Given the description of an element on the screen output the (x, y) to click on. 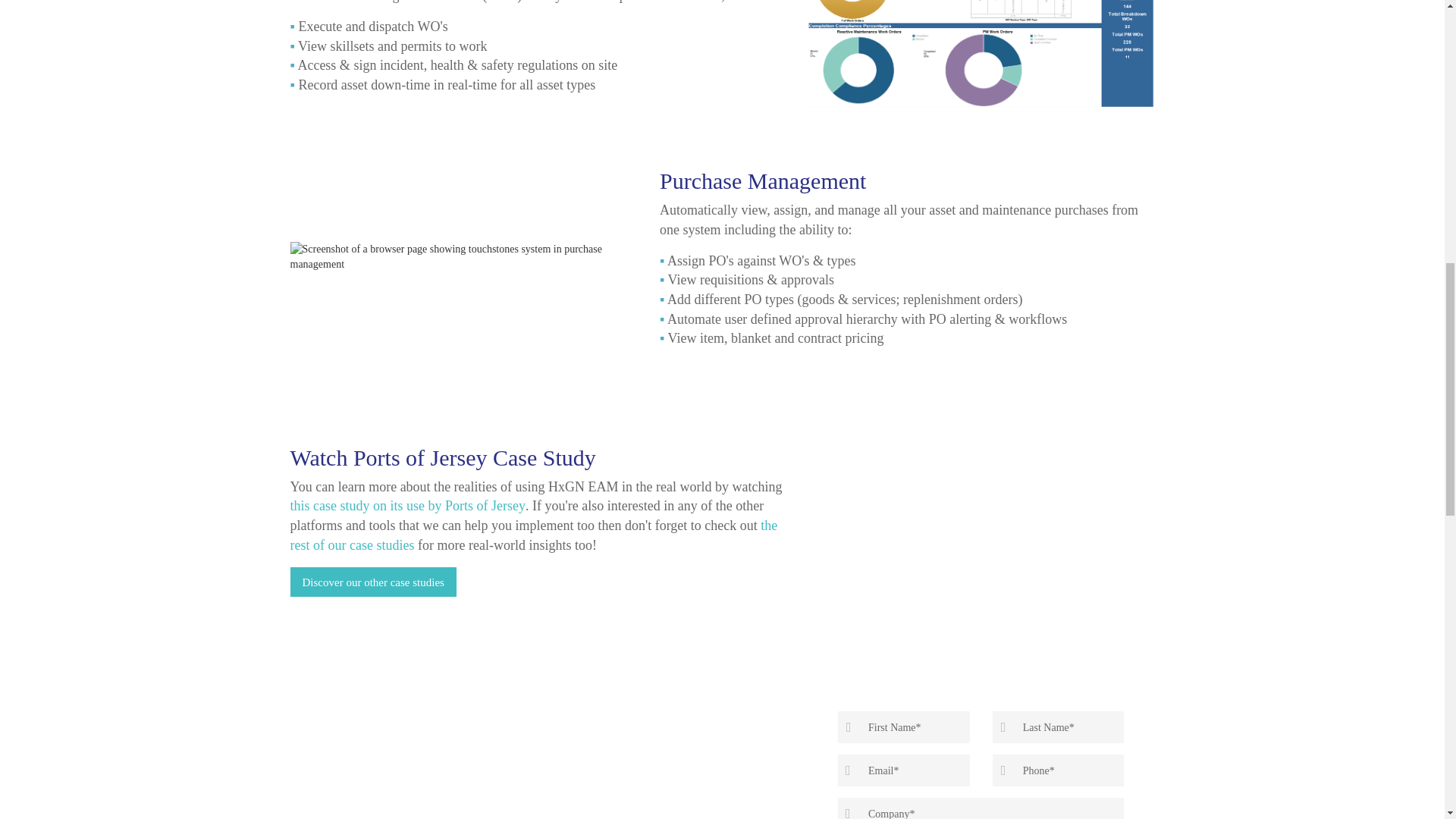
YouTube video player (981, 510)
